Given the description of an element on the screen output the (x, y) to click on. 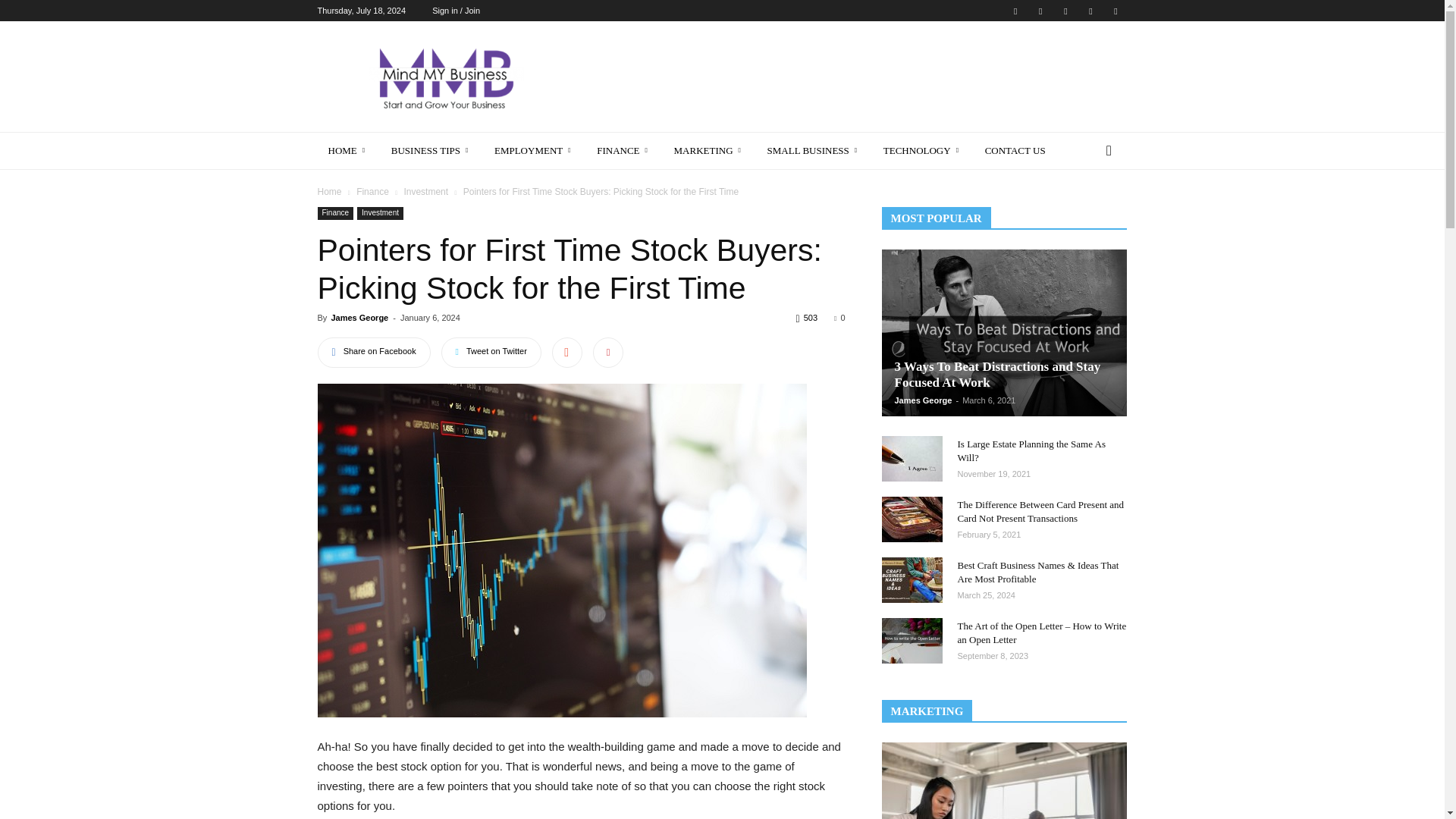
Pinterest (1065, 10)
Twitter (1114, 10)
Mail (1040, 10)
BUSINESS TIPS (431, 150)
HOME (348, 150)
Facebook (1015, 10)
RSS (1090, 10)
